Given the description of an element on the screen output the (x, y) to click on. 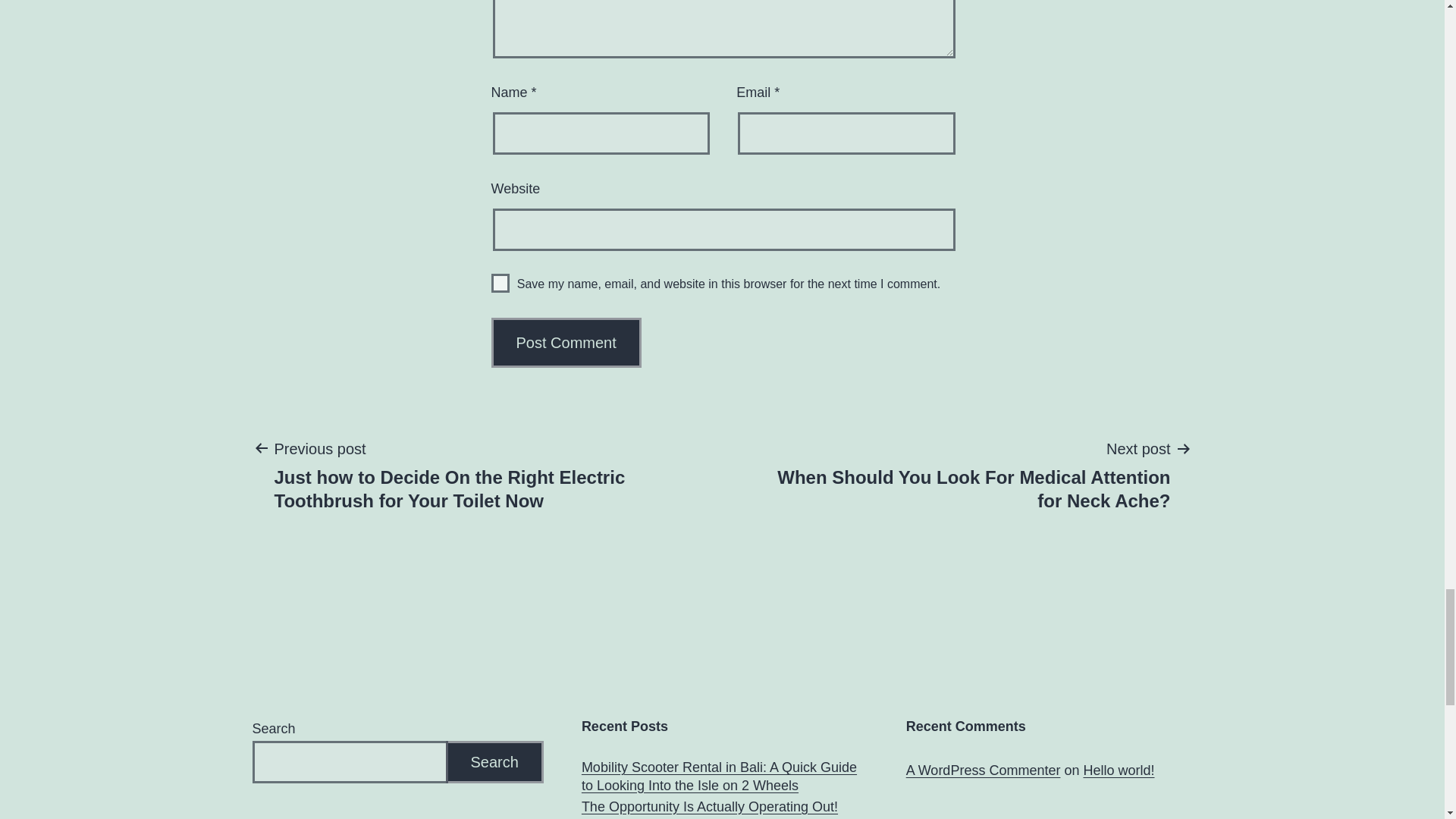
Post Comment (567, 342)
yes (500, 282)
Post Comment (567, 342)
Hello world! (1118, 770)
A WordPress Commenter (983, 770)
Search (494, 762)
